Given the description of an element on the screen output the (x, y) to click on. 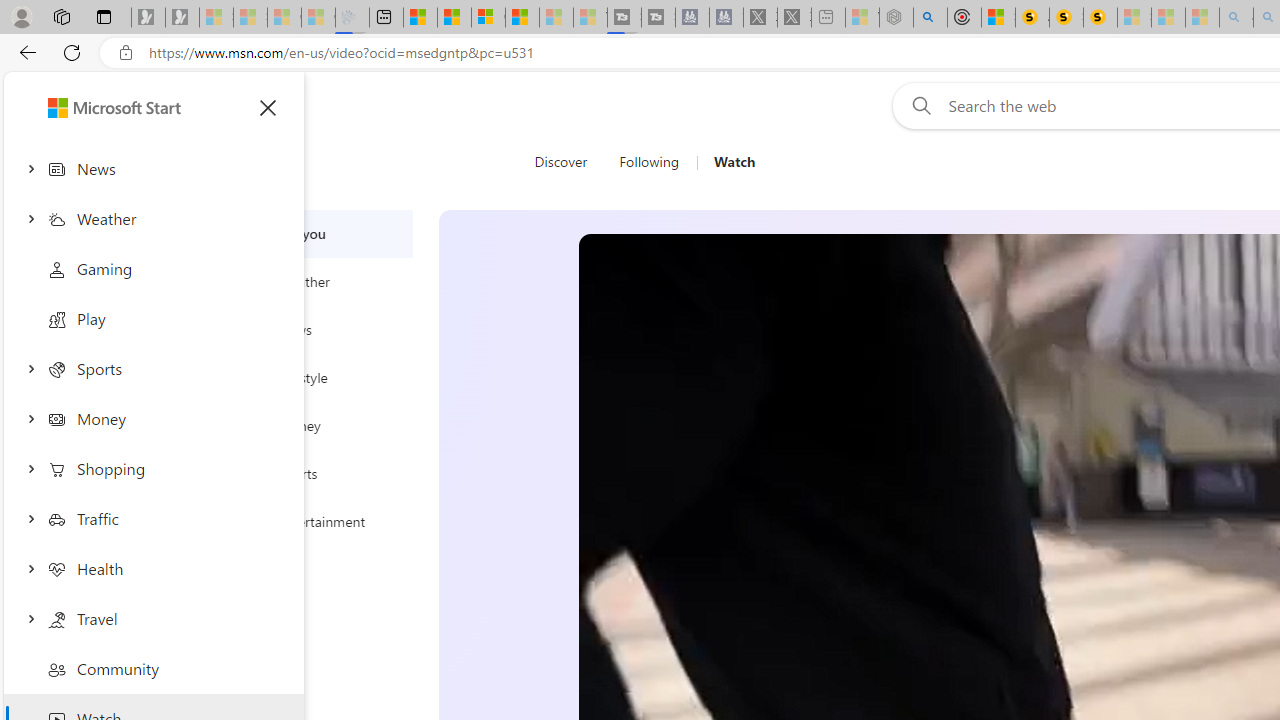
poe - Search (930, 17)
Nordace - Summer Adventures 2024 - Sleeping (895, 17)
